Given the description of an element on the screen output the (x, y) to click on. 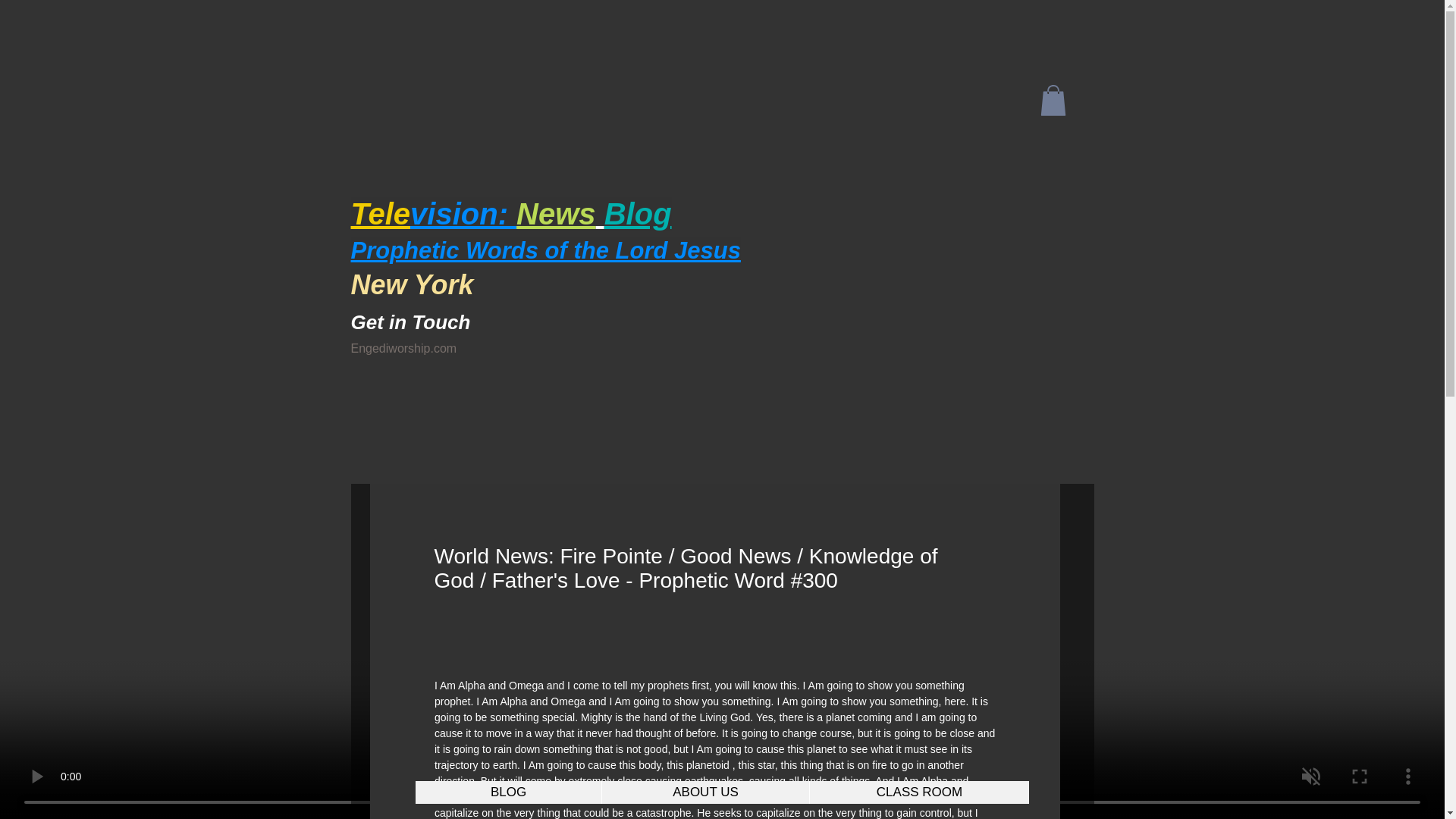
ABOUT US (705, 792)
CLASS ROOM (919, 792)
BLOG (507, 792)
